Given the description of an element on the screen output the (x, y) to click on. 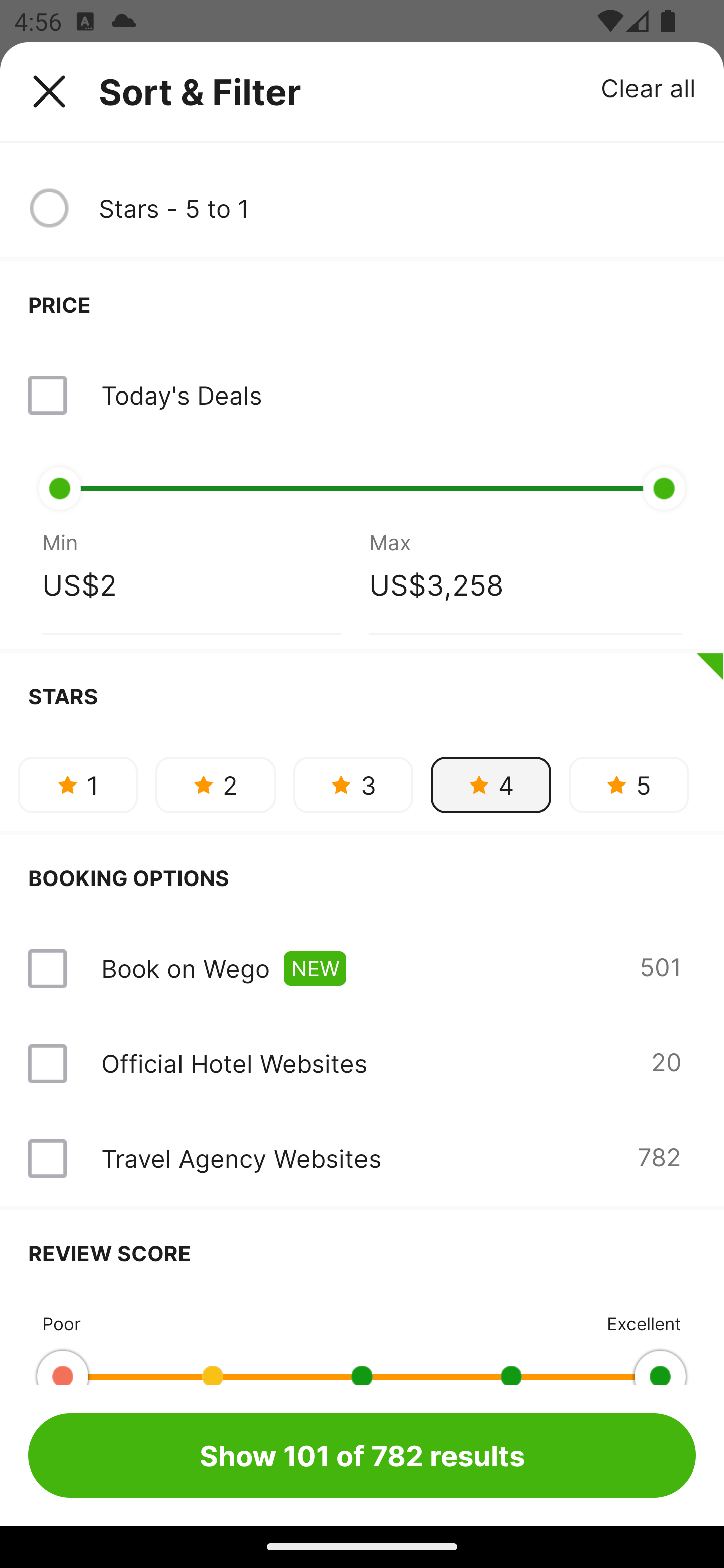
Clear all (648, 87)
Stars - 5 to 1 (396, 207)
Today's Deals (362, 395)
Today's Deals (181, 394)
1 (77, 785)
2 (214, 785)
3 (352, 785)
4 (491, 785)
5 (627, 785)
Book on Wego NEW 501 (362, 968)
Book on Wego (184, 968)
Official Hotel Websites 20 (362, 1063)
Official Hotel Websites (233, 1062)
Travel Agency Websites 782 (362, 1158)
Travel Agency Websites (240, 1158)
Poor Excellent (362, 1340)
Show 101 of 782 results (361, 1454)
